Given the description of an element on the screen output the (x, y) to click on. 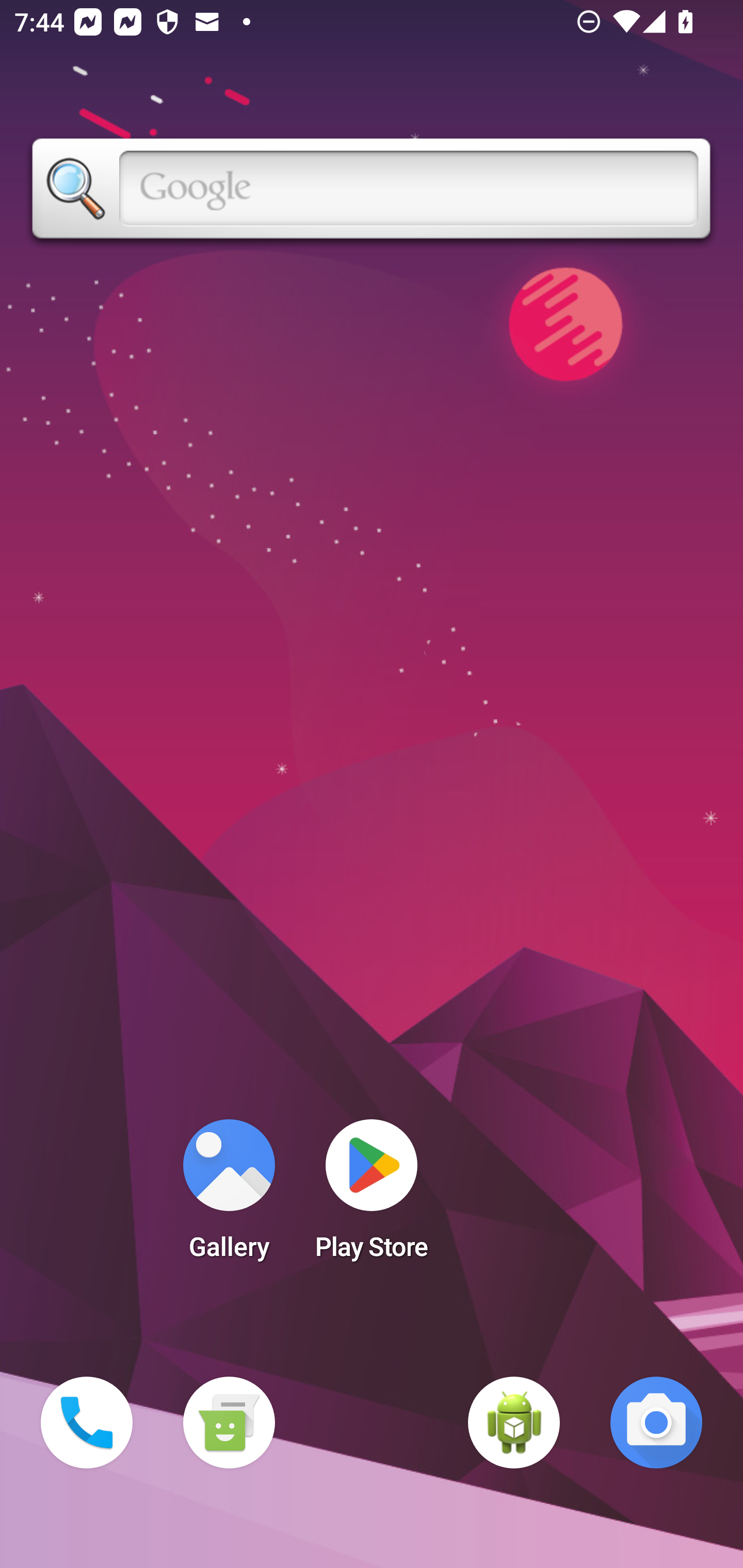
Gallery (228, 1195)
Play Store (371, 1195)
Phone (86, 1422)
Messaging (228, 1422)
WebView Browser Tester (513, 1422)
Camera (656, 1422)
